Given the description of an element on the screen output the (x, y) to click on. 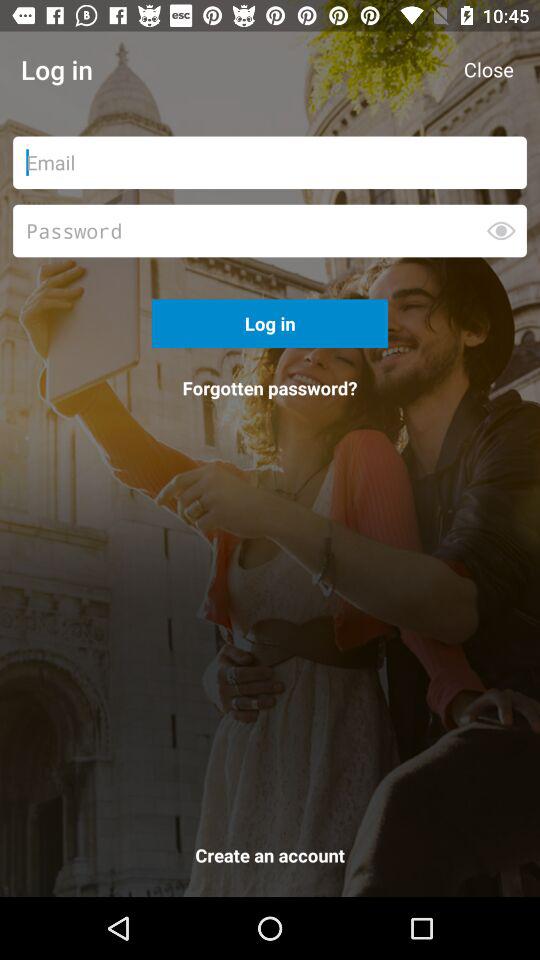
jump to the forgotten password? icon (269, 387)
